Given the description of an element on the screen output the (x, y) to click on. 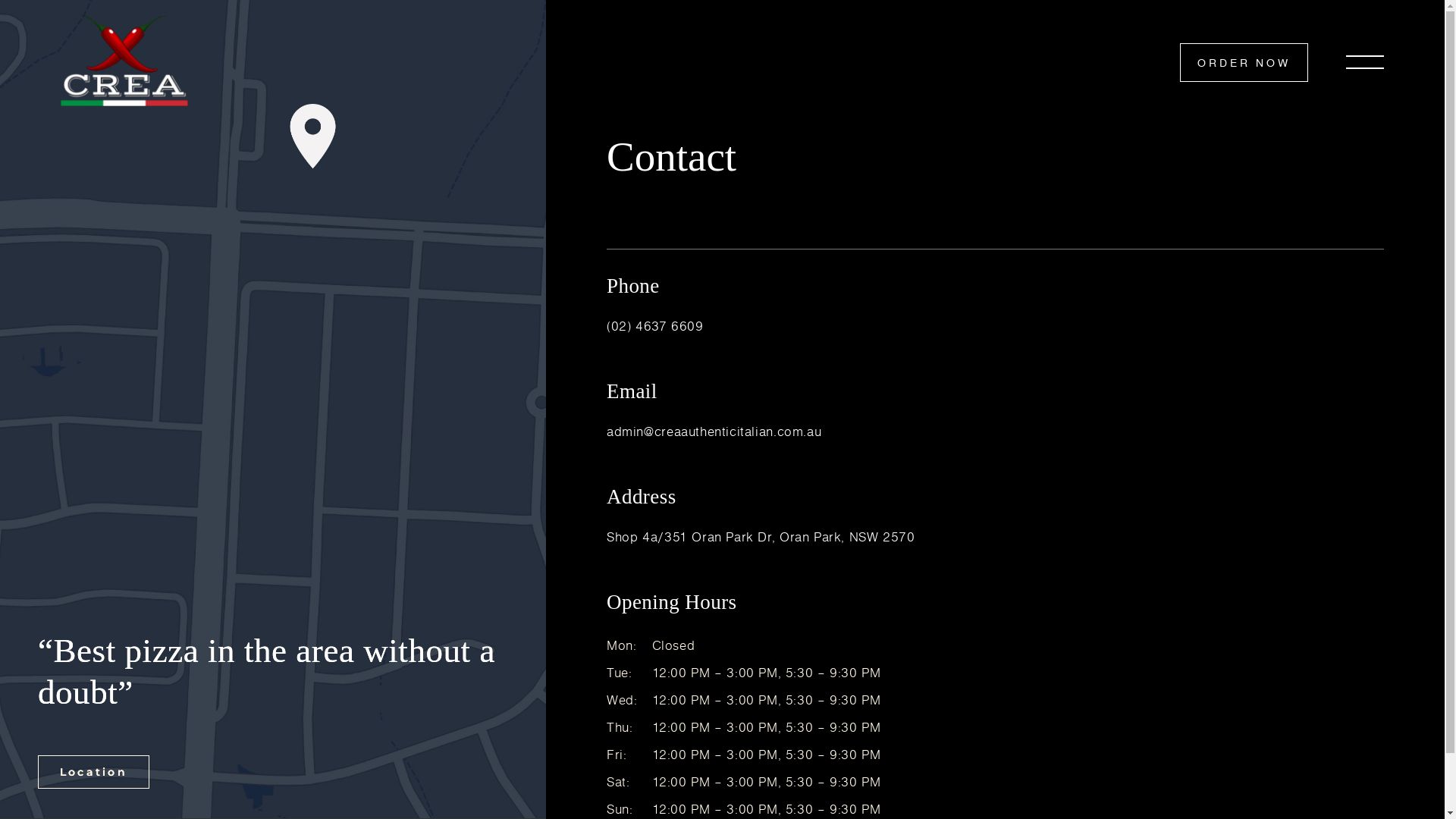
(02) 4637 6609 Element type: text (654, 325)
Location Element type: text (93, 771)
ORDER NOW Element type: text (1243, 62)
CREA RESTAURANT Element type: text (163, 144)
admin@creaauthenticitalian.com.au Element type: text (713, 431)
Shop 4a/351 Oran Park Dr, Oran Park, NSW 2570 Element type: text (760, 536)
Skip to content Element type: text (0, 0)
